Given the description of an element on the screen output the (x, y) to click on. 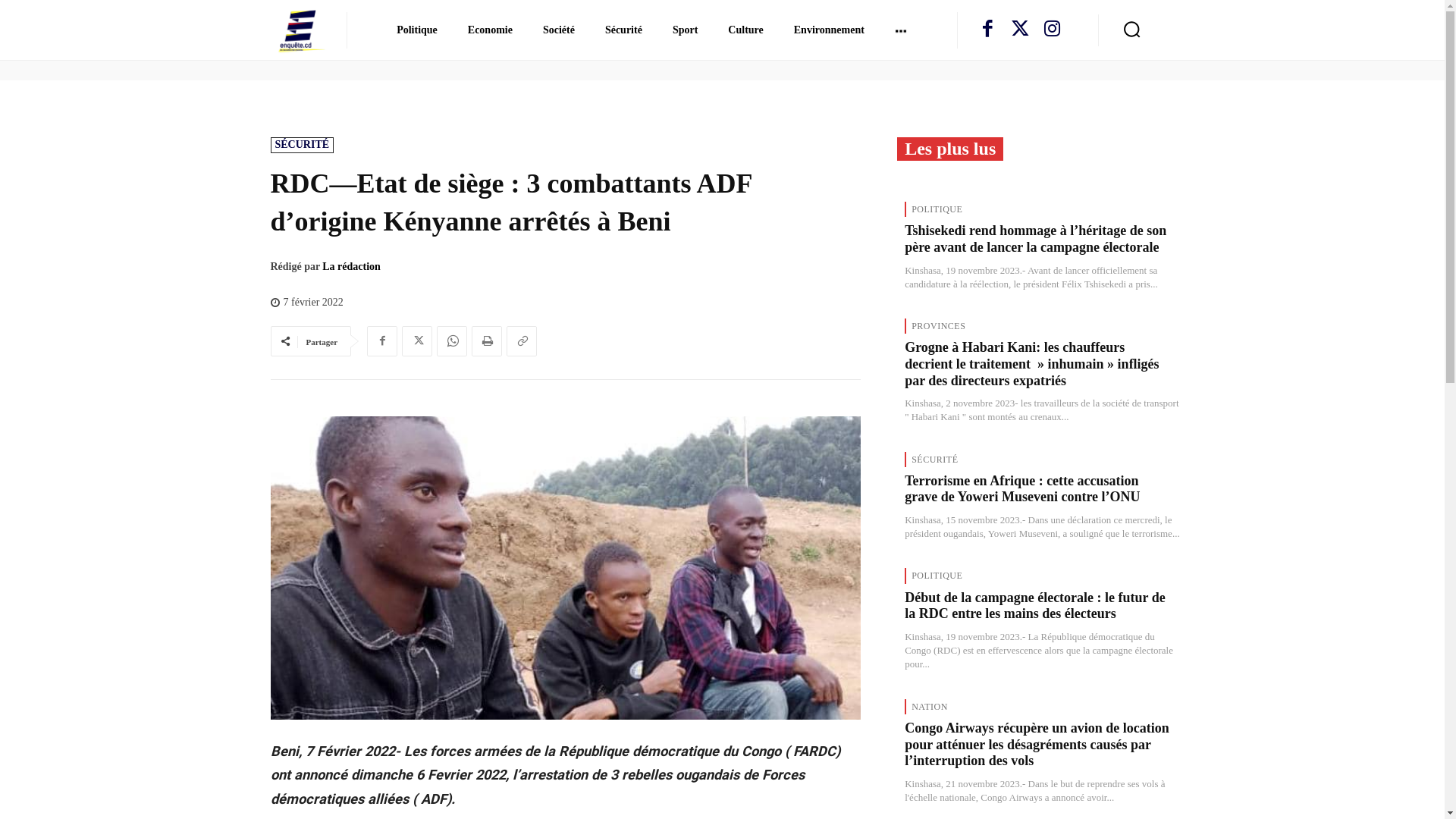
Culture Element type: text (745, 30)
NATION Element type: text (928, 706)
Twitter Element type: hover (416, 341)
Environnement Element type: text (829, 30)
Imprimer Element type: hover (486, 341)
Twitter Element type: hover (1019, 30)
POLITIQUE Element type: text (935, 208)
Economie Element type: text (490, 30)
Copy URL Element type: hover (521, 341)
POLITIQUE Element type: text (935, 575)
Politique Element type: text (416, 30)
Sport Element type: text (685, 30)
Facebook Element type: hover (382, 341)
PROVINCES Element type: text (937, 325)
Facebook Element type: hover (987, 30)
WhatsApp Element type: hover (451, 341)
Instagram Element type: hover (1052, 30)
